Given the description of an element on the screen output the (x, y) to click on. 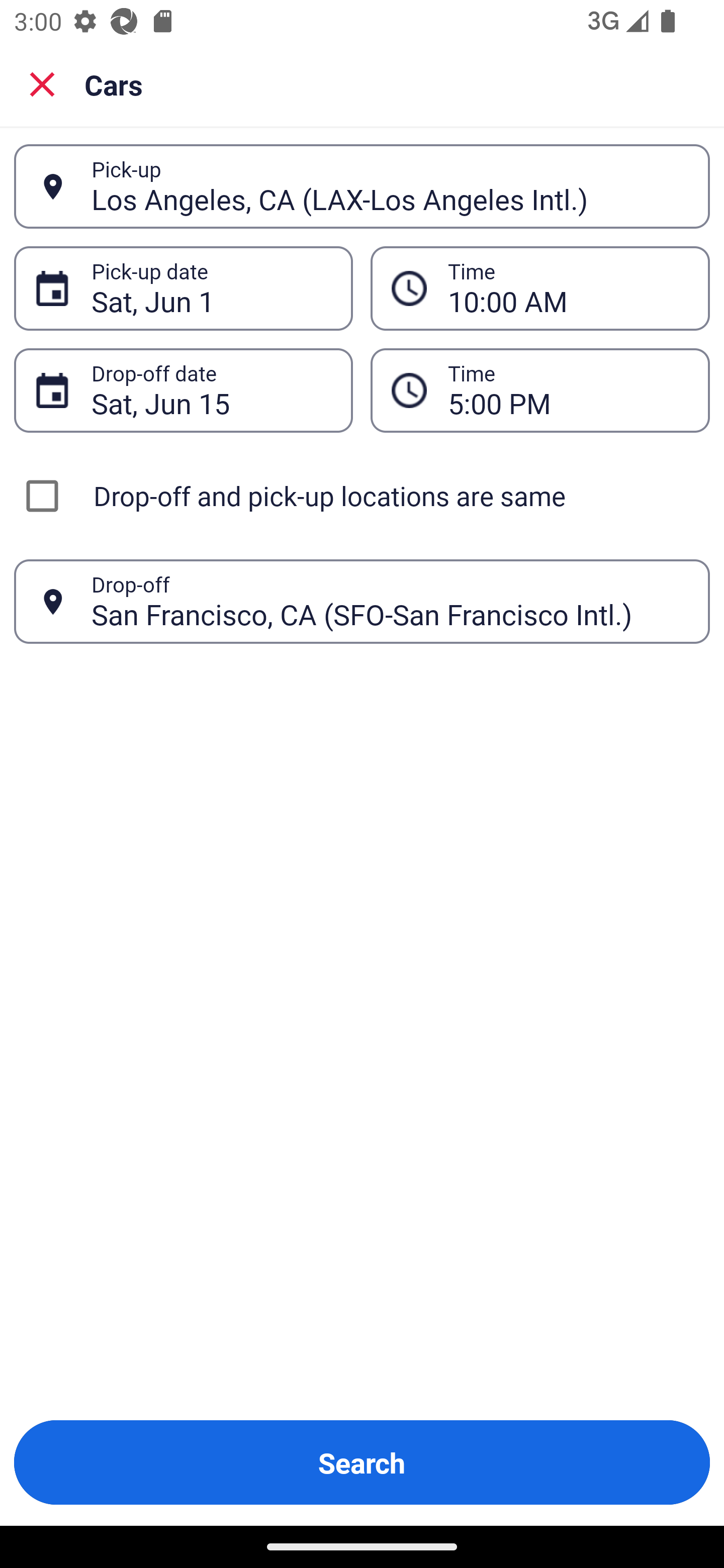
Close search screen (41, 83)
Los Angeles, CA (LAX-Los Angeles Intl.) Pick-up (361, 186)
Los Angeles, CA (LAX-Los Angeles Intl.) (389, 186)
Sat, Jun 1 Pick-up date (183, 288)
10:00 AM (540, 288)
Sat, Jun 1 (211, 288)
10:00 AM (568, 288)
Sat, Jun 15 Drop-off date (183, 390)
5:00 PM (540, 390)
Sat, Jun 15 (211, 390)
5:00 PM (568, 390)
Drop-off and pick-up locations are same (361, 495)
San Francisco, CA (SFO-San Francisco Intl.) (389, 601)
Search Button Search (361, 1462)
